Given the description of an element on the screen output the (x, y) to click on. 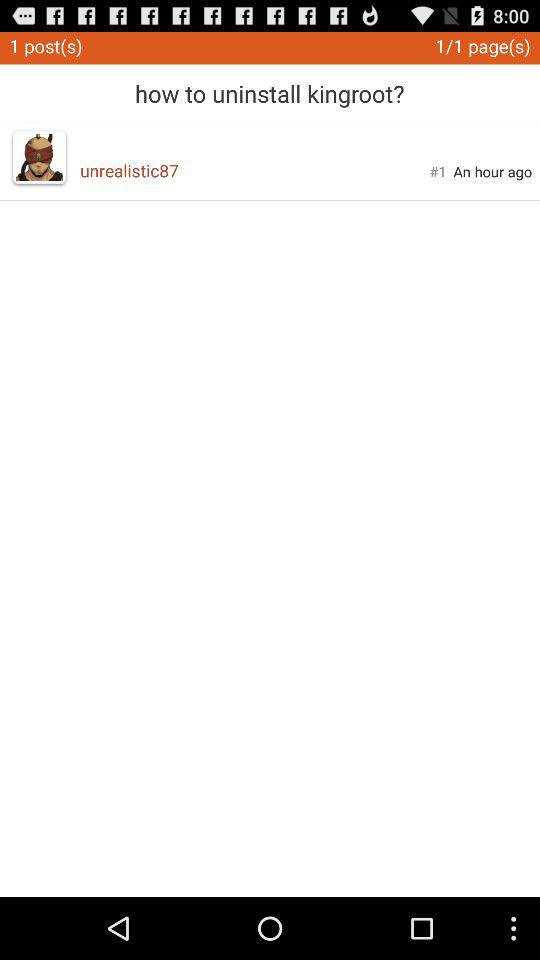
launch item below 1 1 page app (492, 171)
